Given the description of an element on the screen output the (x, y) to click on. 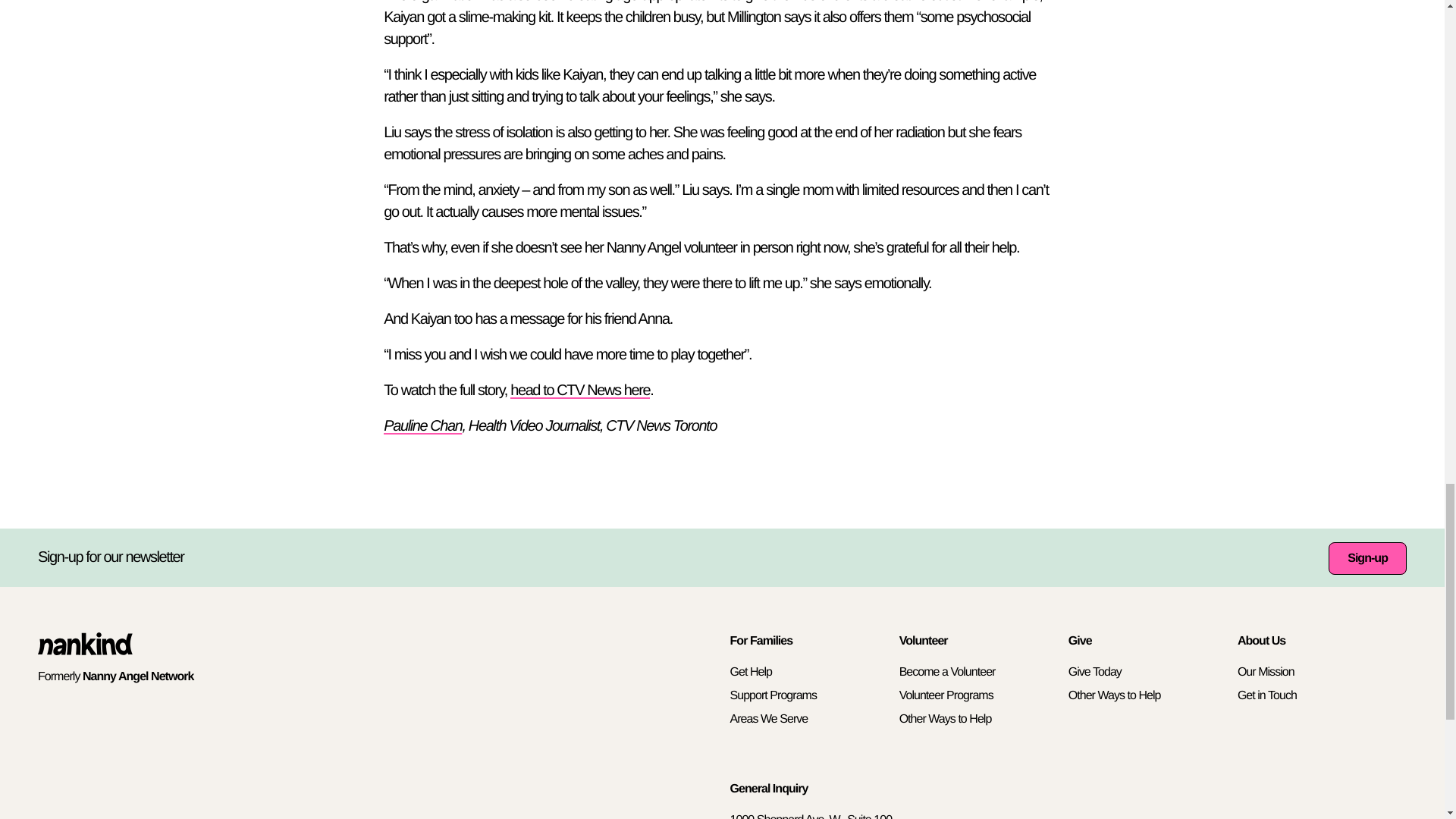
Other Ways to Help (1114, 695)
Support Programs (772, 695)
Become a Volunteer (947, 671)
Our Mission (1265, 671)
Other Ways to Help (945, 719)
Get Help (750, 671)
Go to homepage (84, 650)
Give Today (1094, 671)
Volunteer Programs (945, 695)
Get in Touch (1267, 695)
Pauline Chan (422, 425)
head to CTV News here (580, 390)
Sign-up (1366, 558)
Areas We Serve (768, 719)
